Given the description of an element on the screen output the (x, y) to click on. 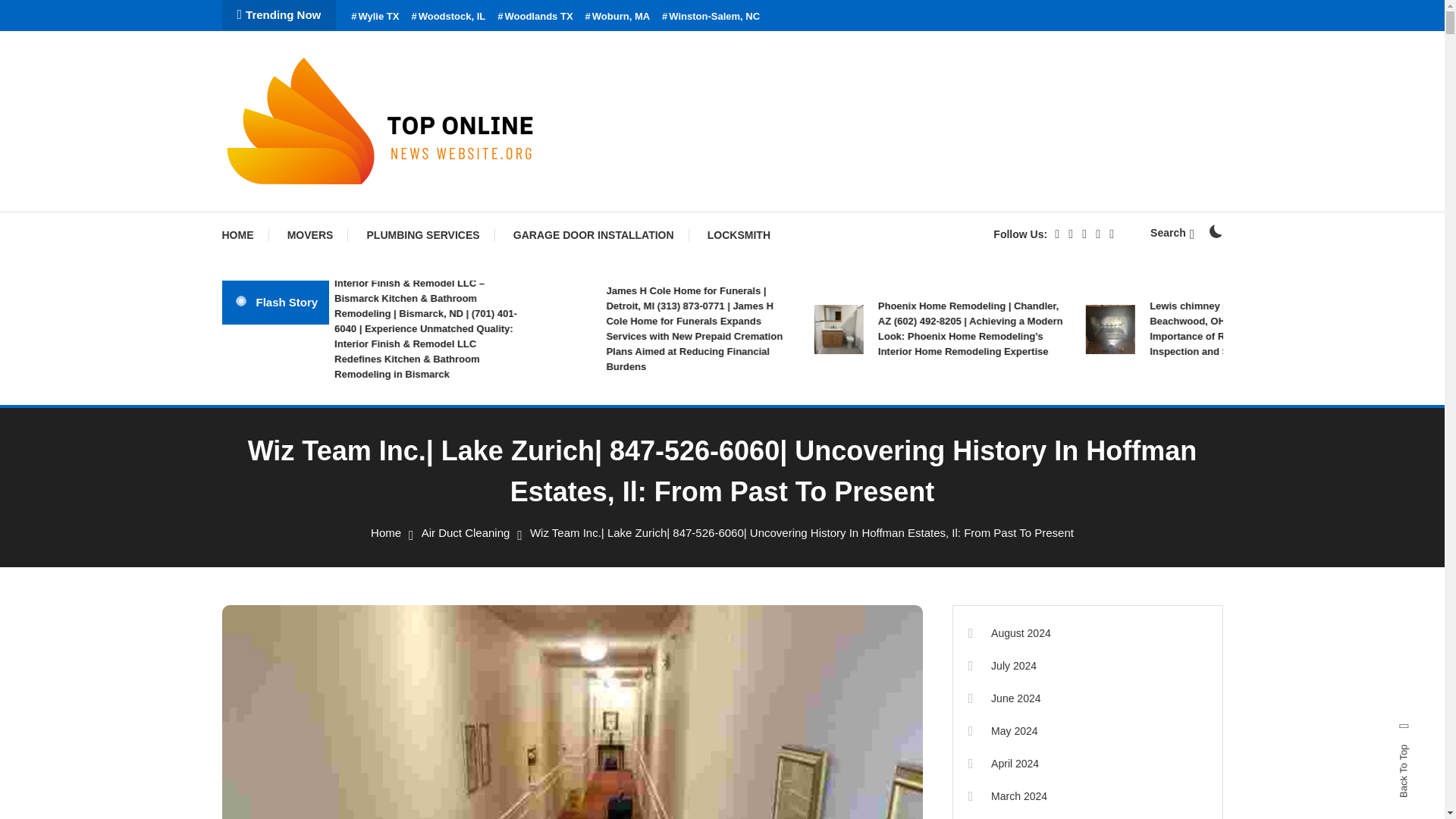
HOME (244, 234)
PLUMBING SERVICES (423, 234)
Search (1171, 232)
Woodstock, IL (447, 16)
MOVERS (310, 234)
Woodlands TX (534, 16)
Woburn, MA (617, 16)
GARAGE DOOR INSTALLATION (592, 234)
Search (768, 434)
Winston-Salem, NC (711, 16)
